Given the description of an element on the screen output the (x, y) to click on. 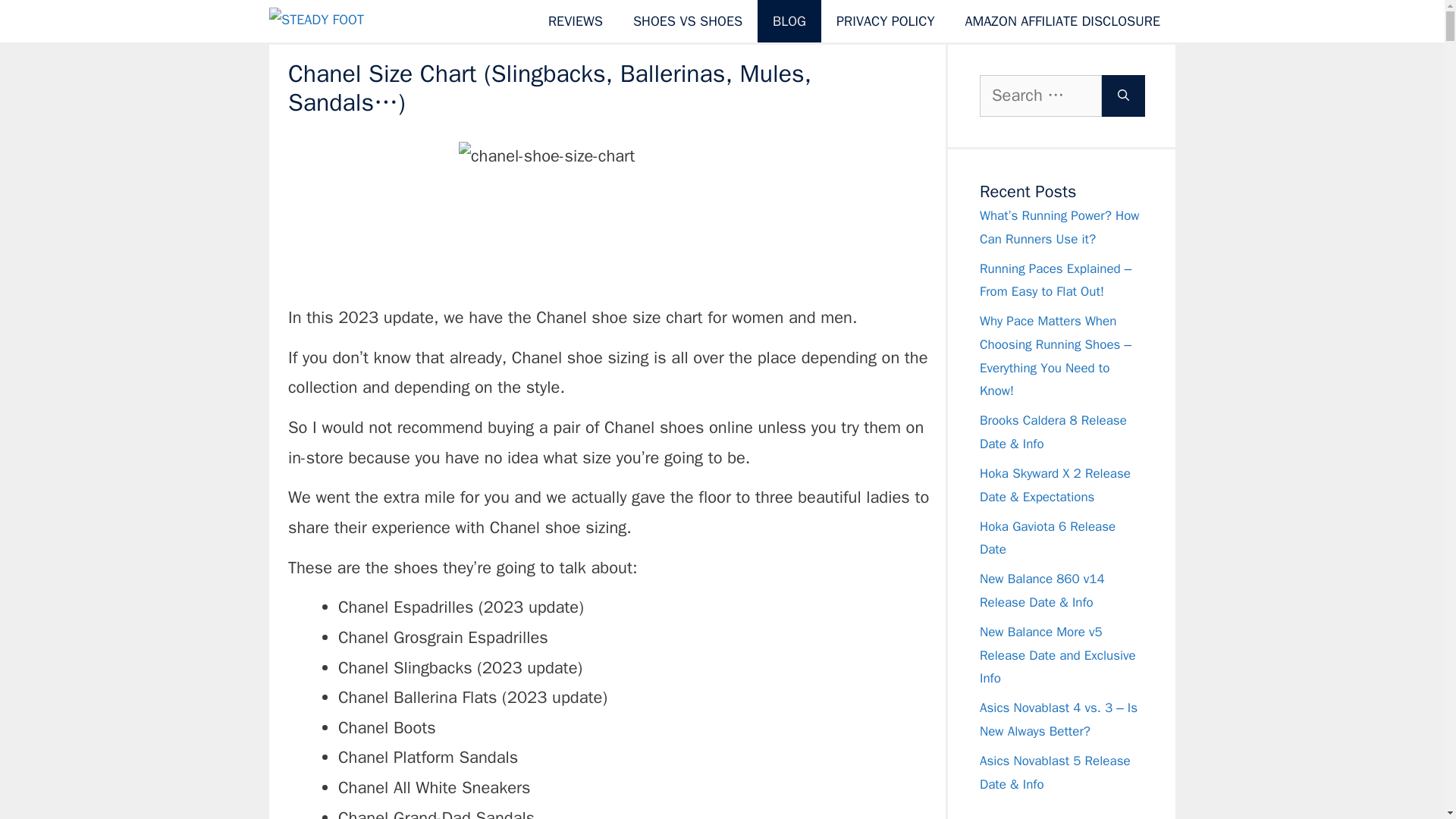
AMAZON AFFILIATE DISCLOSURE (1061, 21)
BLOG (789, 21)
SHOES VS SHOES (687, 21)
Search for: (1040, 96)
REVIEWS (574, 21)
PRIVACY POLICY (885, 21)
Steady Foot (354, 21)
